Given the description of an element on the screen output the (x, y) to click on. 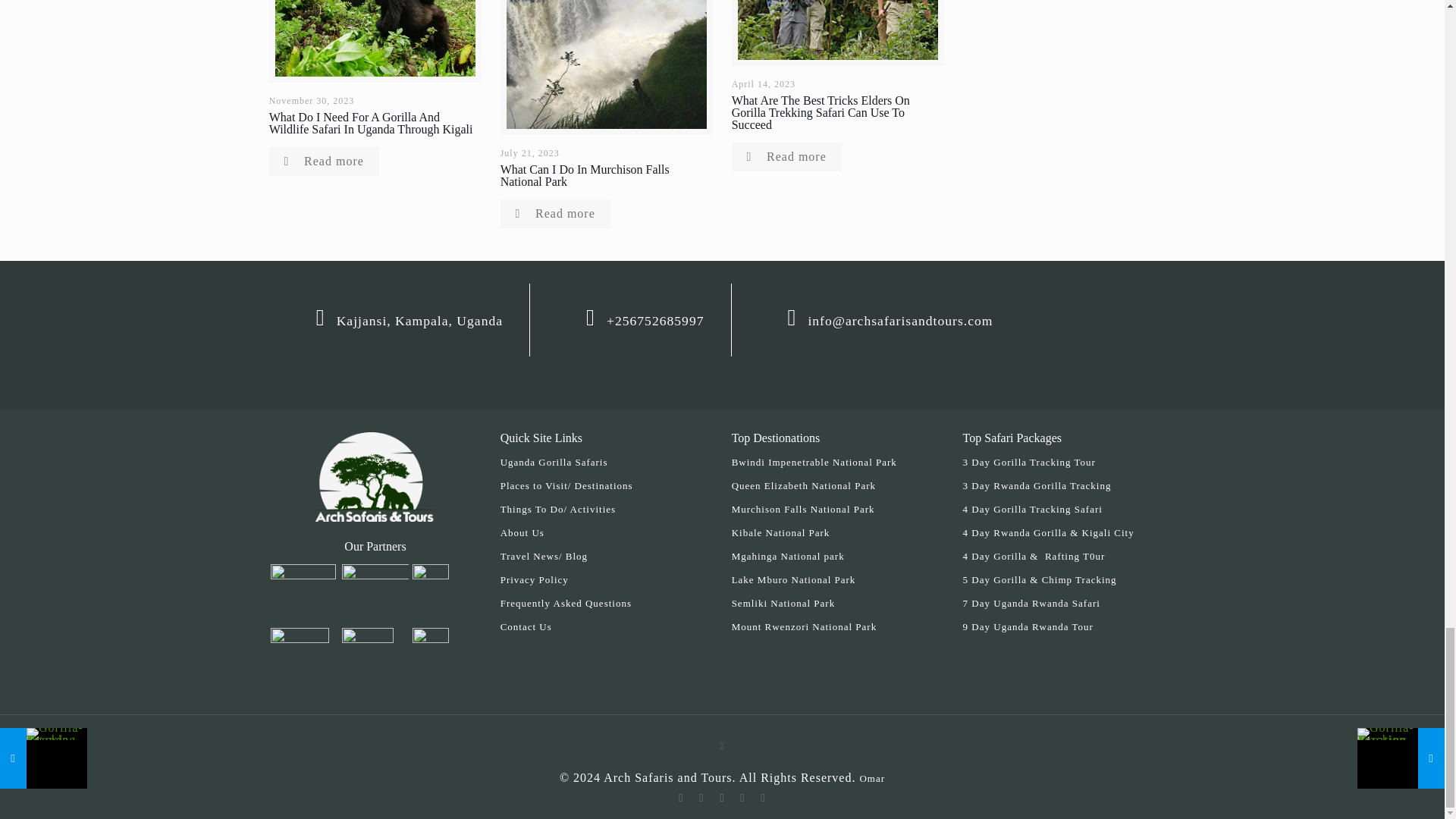
Instagram (743, 797)
Twitter (722, 797)
TripAdvisor (763, 797)
Facebook (702, 797)
WhatsApp (680, 797)
